Given the description of an element on the screen output the (x, y) to click on. 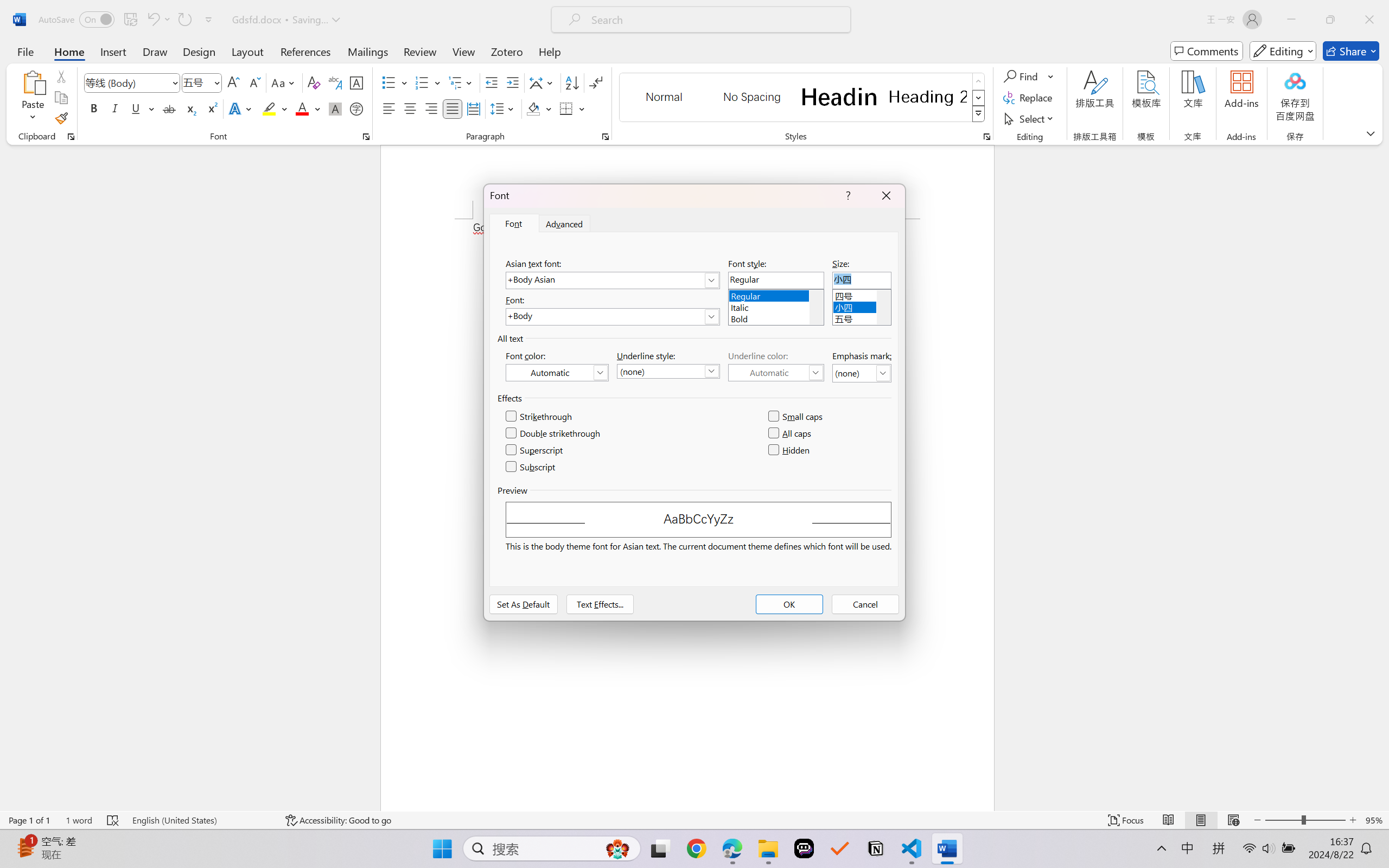
Align Right (431, 108)
Class: NetUIScrollBar (1382, 477)
Microsoft search (715, 19)
Sort... (571, 82)
Replace... (1029, 97)
